Given the description of an element on the screen output the (x, y) to click on. 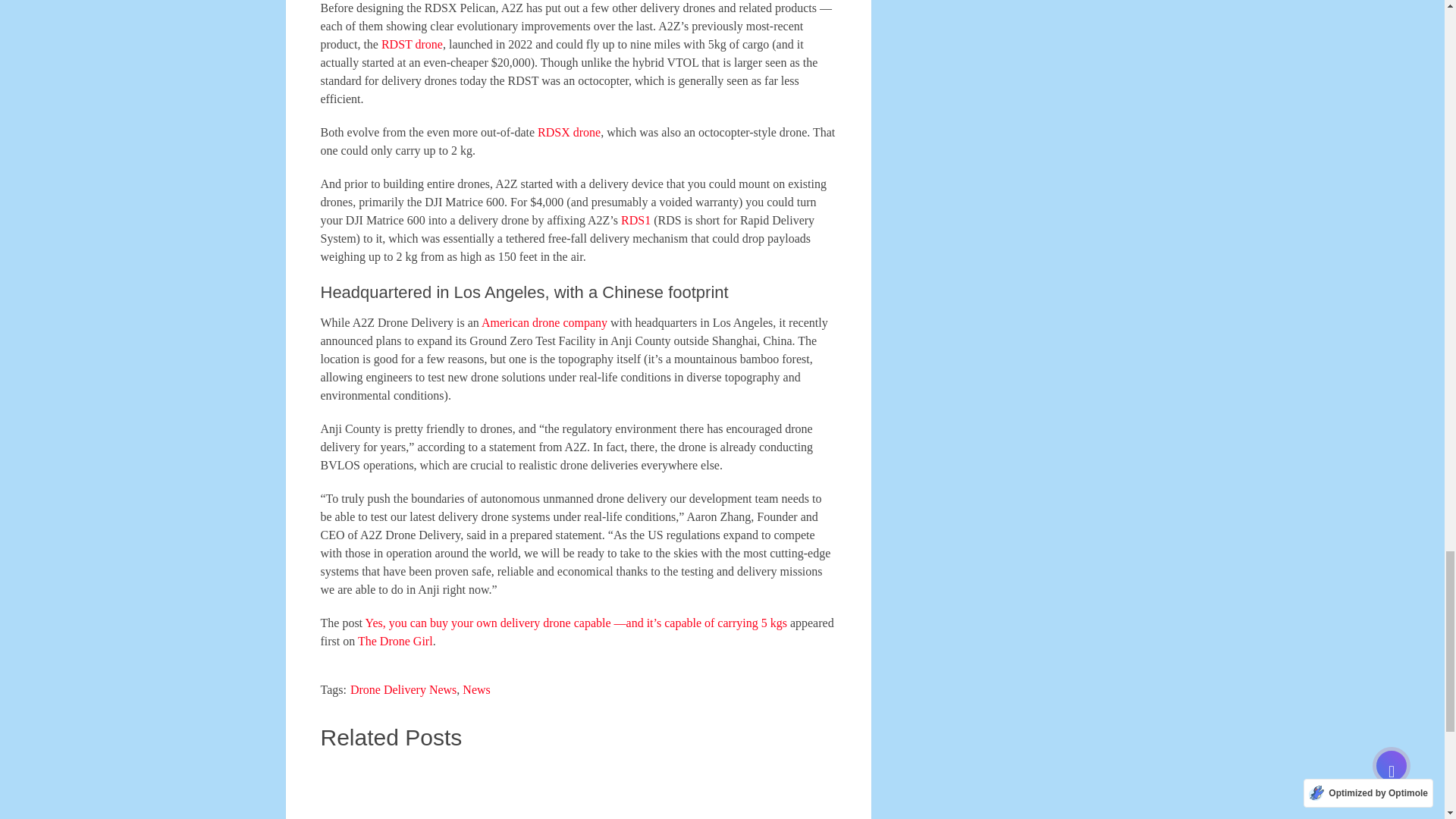
News (476, 689)
RDS1 (635, 219)
RDST drone (411, 43)
RDSX drone (568, 132)
Drone Delivery News (403, 689)
The Drone Girl (395, 640)
American drone company (544, 322)
